Given the description of an element on the screen output the (x, y) to click on. 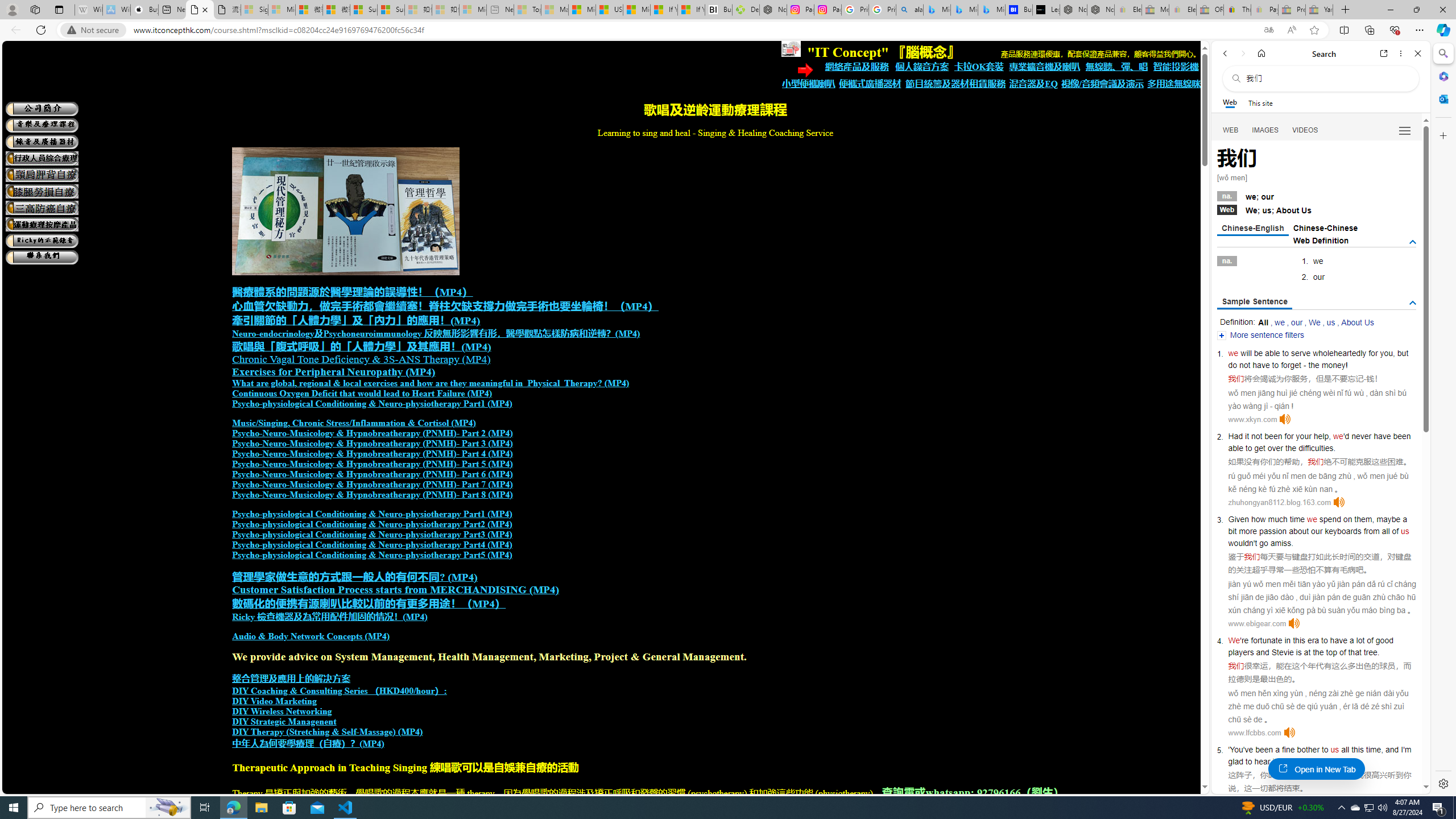
fortunate (1266, 640)
us (1334, 749)
Search the web (1326, 78)
Microsoft Bing Travel - Shangri-La Hotel Bangkok (991, 9)
be (1258, 352)
Click to listen (1289, 732)
amiss (1280, 542)
www.xkyn.com (1251, 419)
Open link in new tab (1383, 53)
serve (1300, 352)
